Given the description of an element on the screen output the (x, y) to click on. 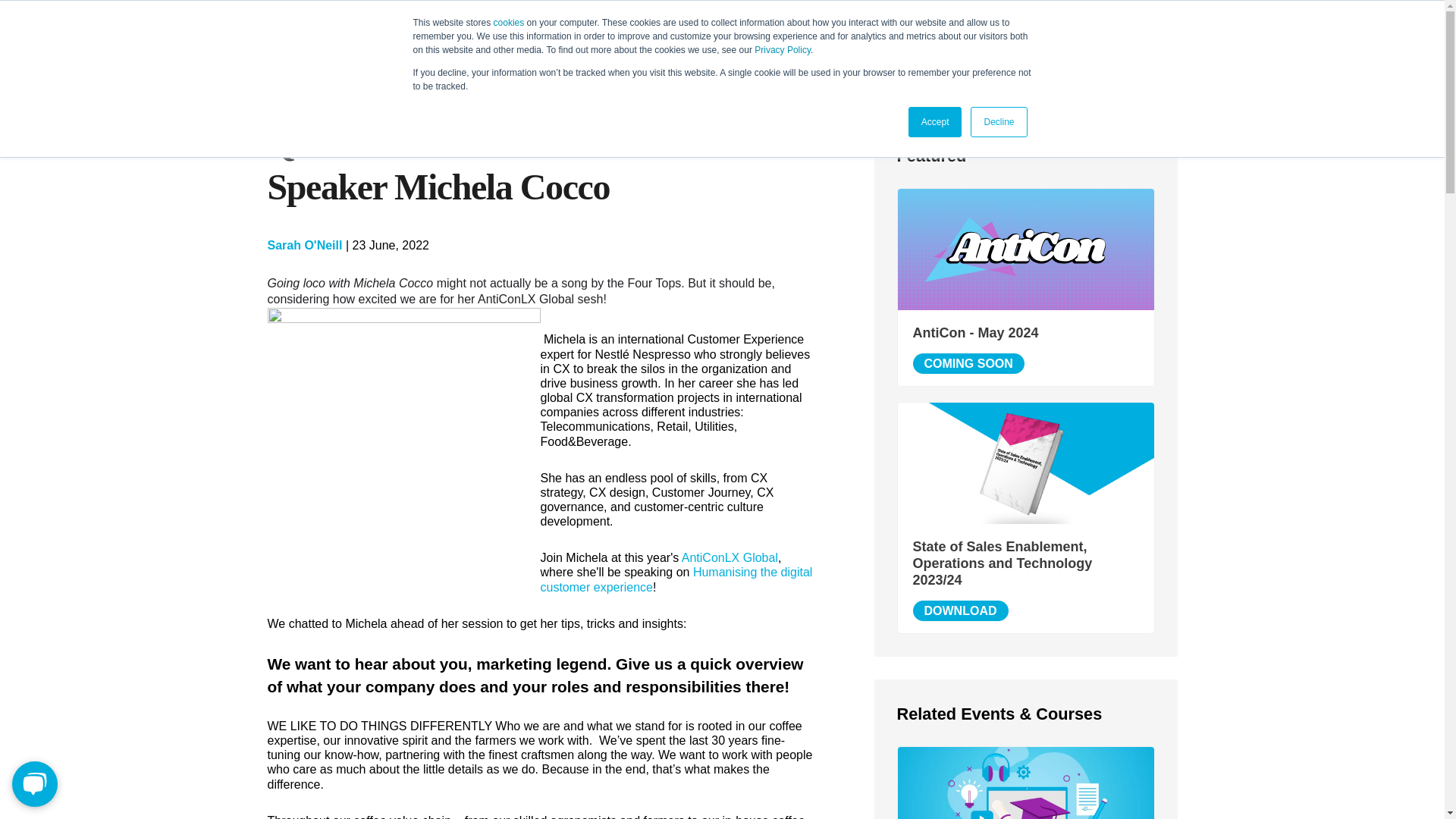
RESOURCES (1037, 33)
EDUCATION (955, 33)
Decline (998, 122)
Accept (935, 122)
cookies (508, 22)
LXA Logo (296, 33)
Privacy Policy (782, 50)
EVENTS (1111, 33)
